Given the description of an element on the screen output the (x, y) to click on. 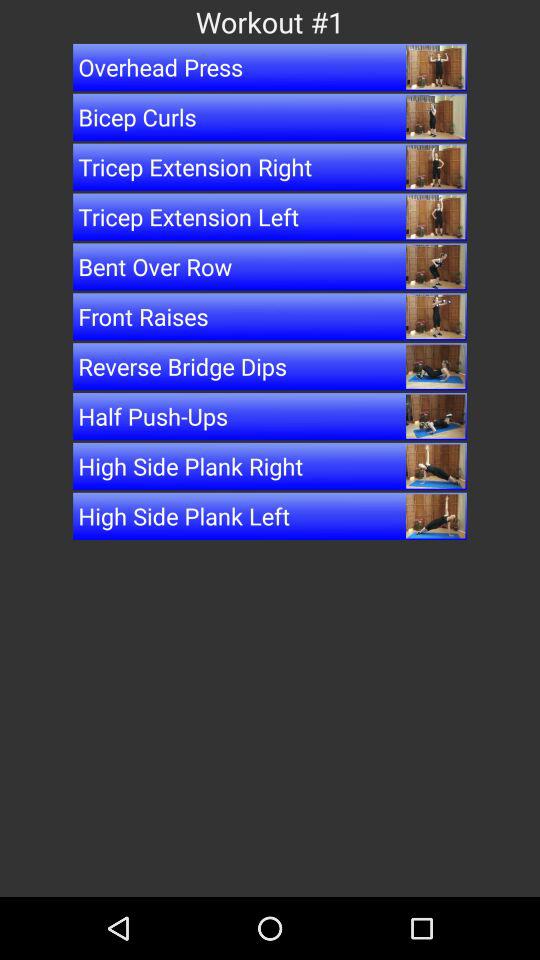
tap the item above the bicep curls icon (269, 67)
